Given the description of an element on the screen output the (x, y) to click on. 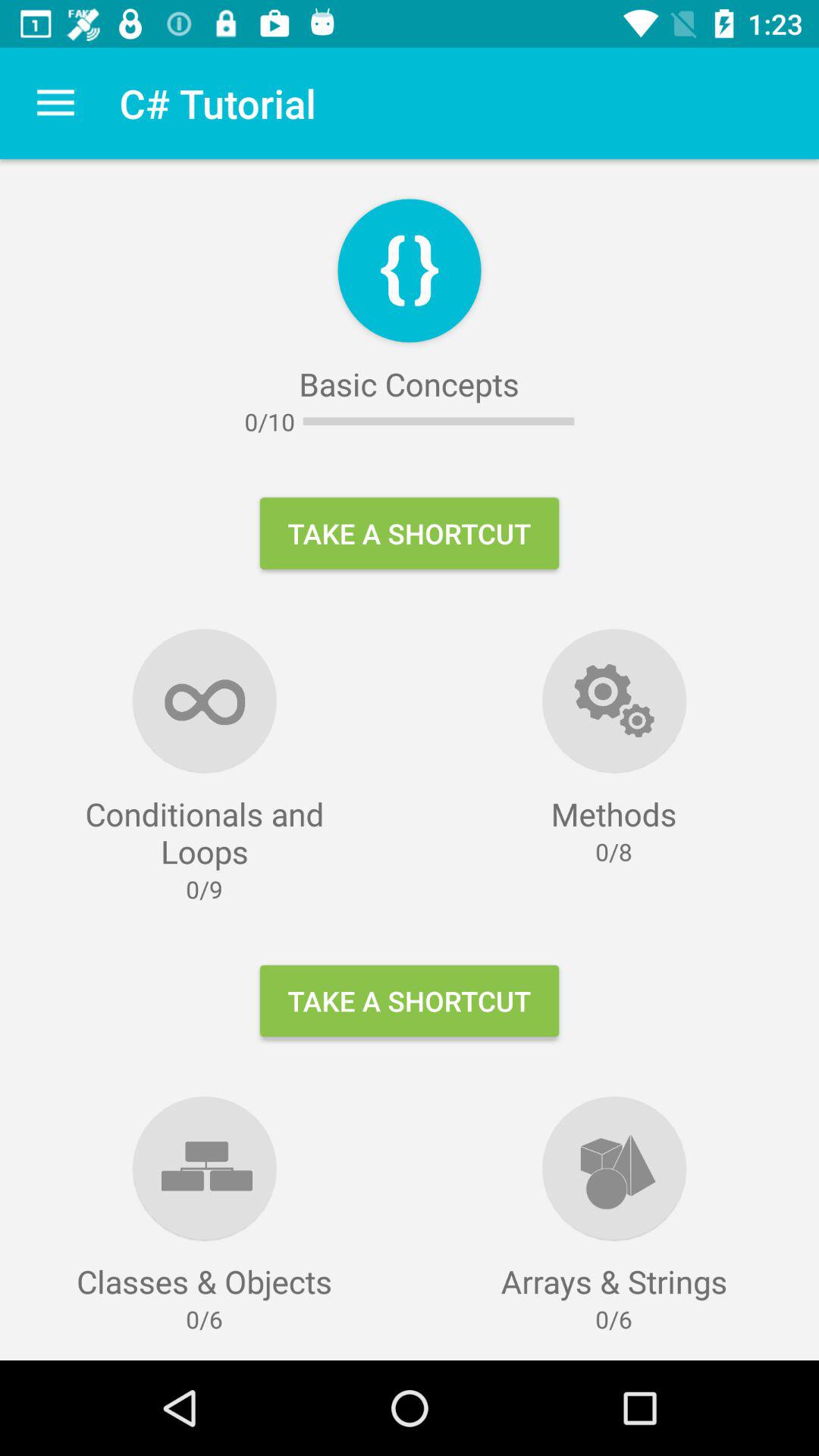
tap item above conditionals and loops item (55, 103)
